Given the description of an element on the screen output the (x, y) to click on. 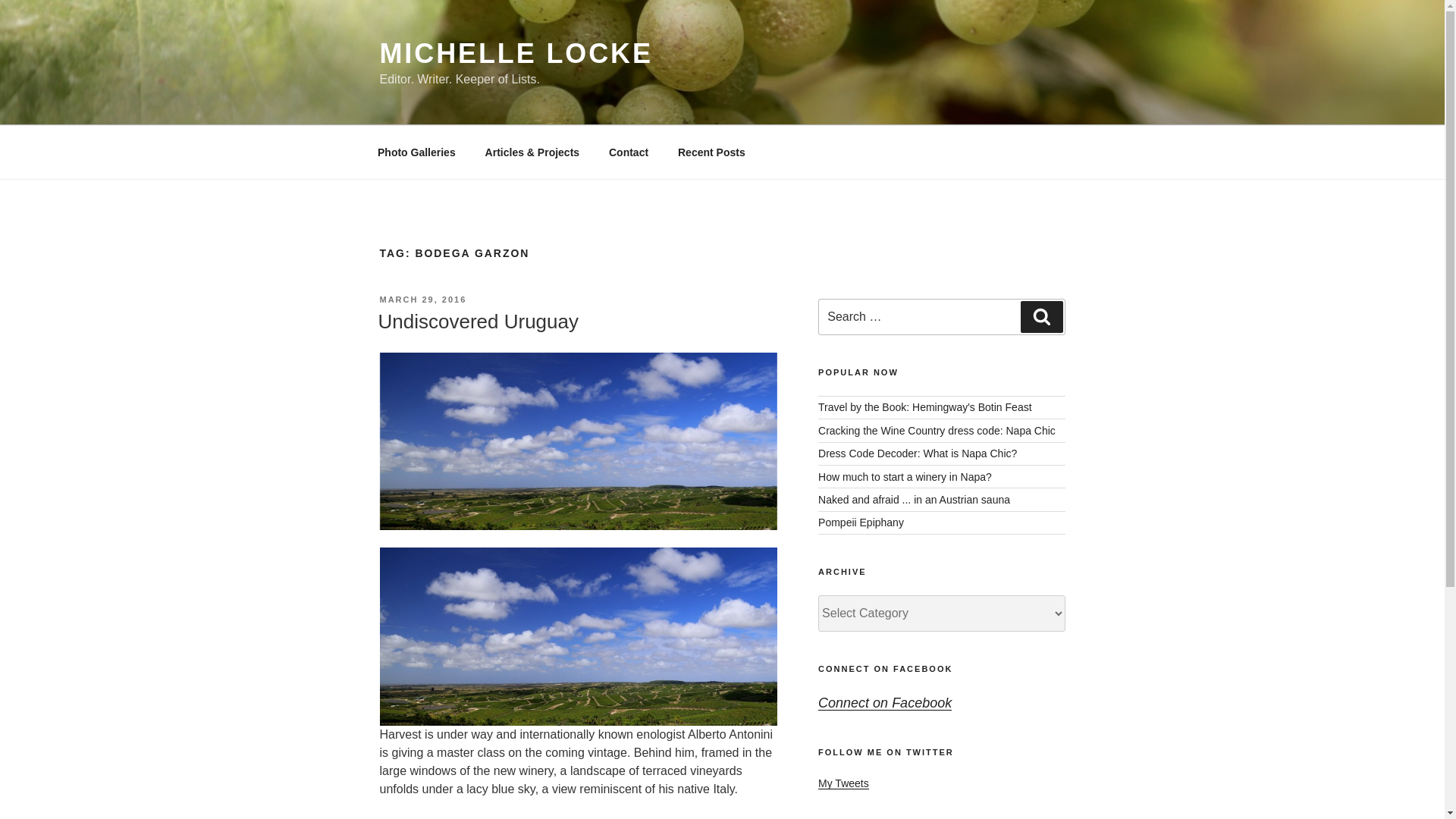
Recent Posts (710, 151)
Dress Code Decoder: What is Napa Chic? (917, 453)
Contact (628, 151)
MARCH 29, 2016 (421, 298)
Undiscovered Uruguay (477, 321)
Cracking the Wine Country dress code: Napa Chic (936, 430)
CONNECT ON FACEBOOK (885, 668)
Photo Galleries (416, 151)
MICHELLE LOCKE (515, 52)
Connect on Facebook (885, 702)
